Given the description of an element on the screen output the (x, y) to click on. 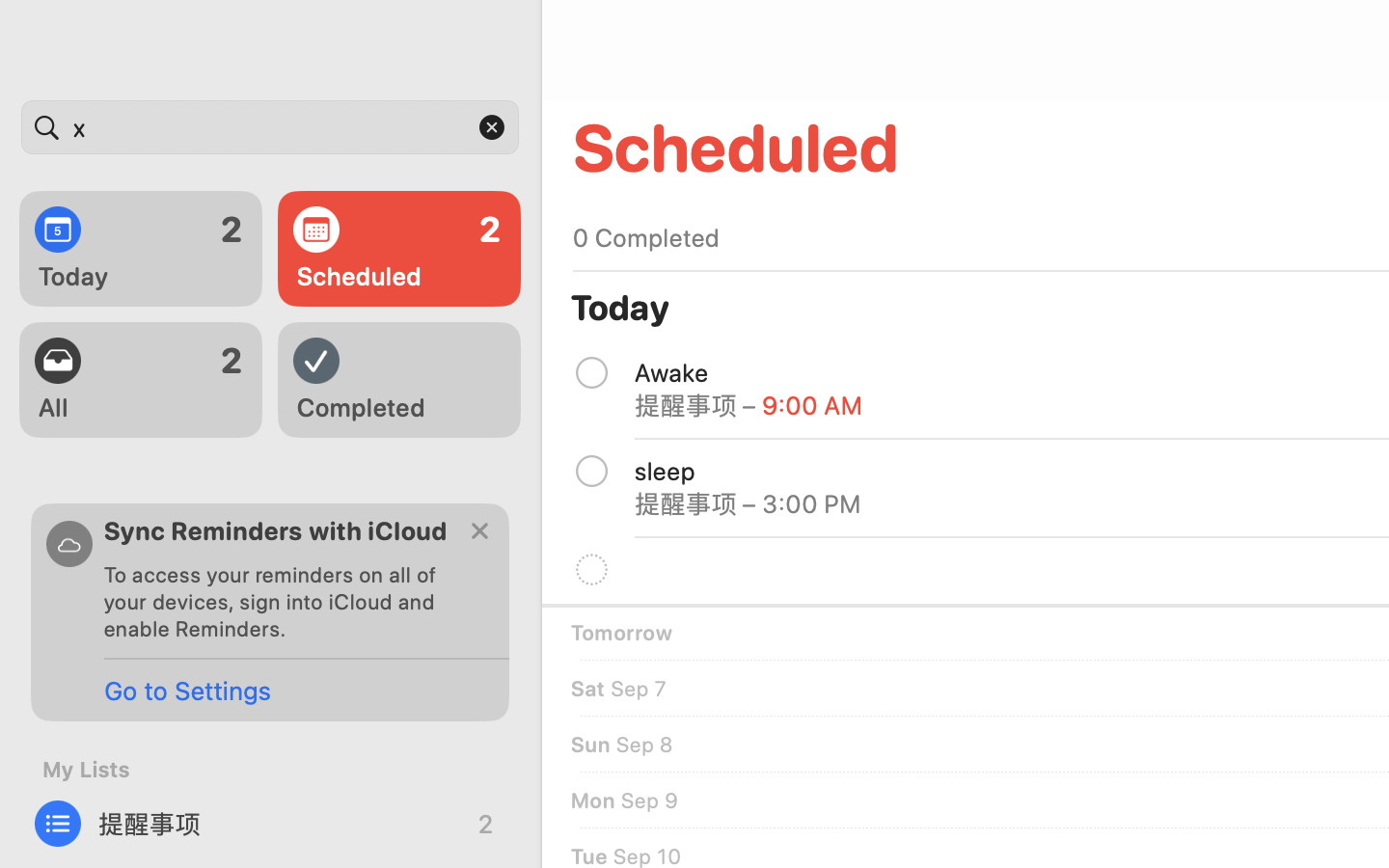
提醒事项 – 3:00 PM Element type: AXStaticText (748, 503)
0 Completed Element type: AXStaticText (646, 236)
To access your reminders on all of your devices, sign into iCloud and enable Reminders. Element type: AXStaticText (278, 601)
